Given the description of an element on the screen output the (x, y) to click on. 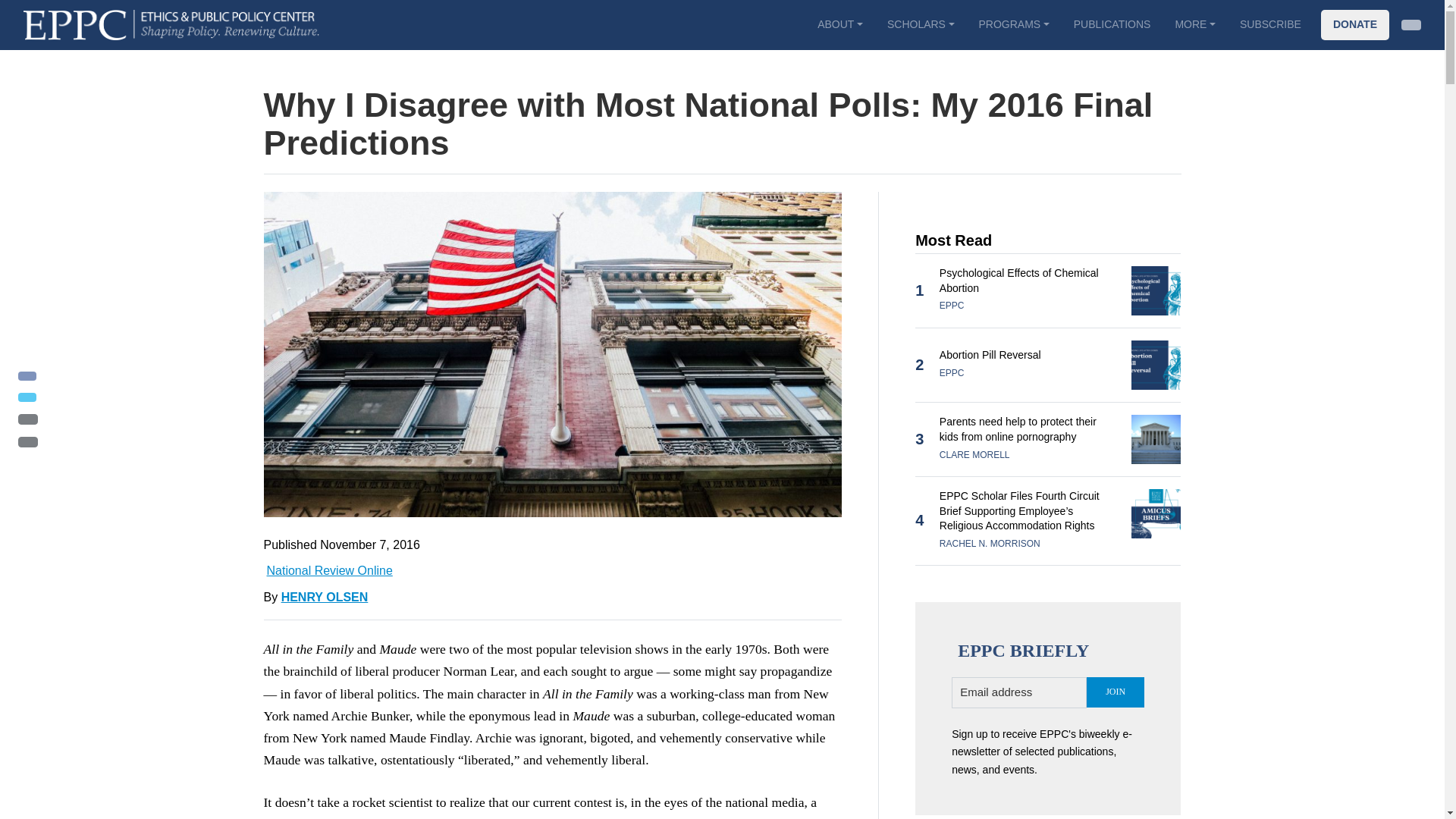
ABOUT (840, 24)
JOIN (1115, 692)
SCHOLARS (920, 24)
